Given the description of an element on the screen output the (x, y) to click on. 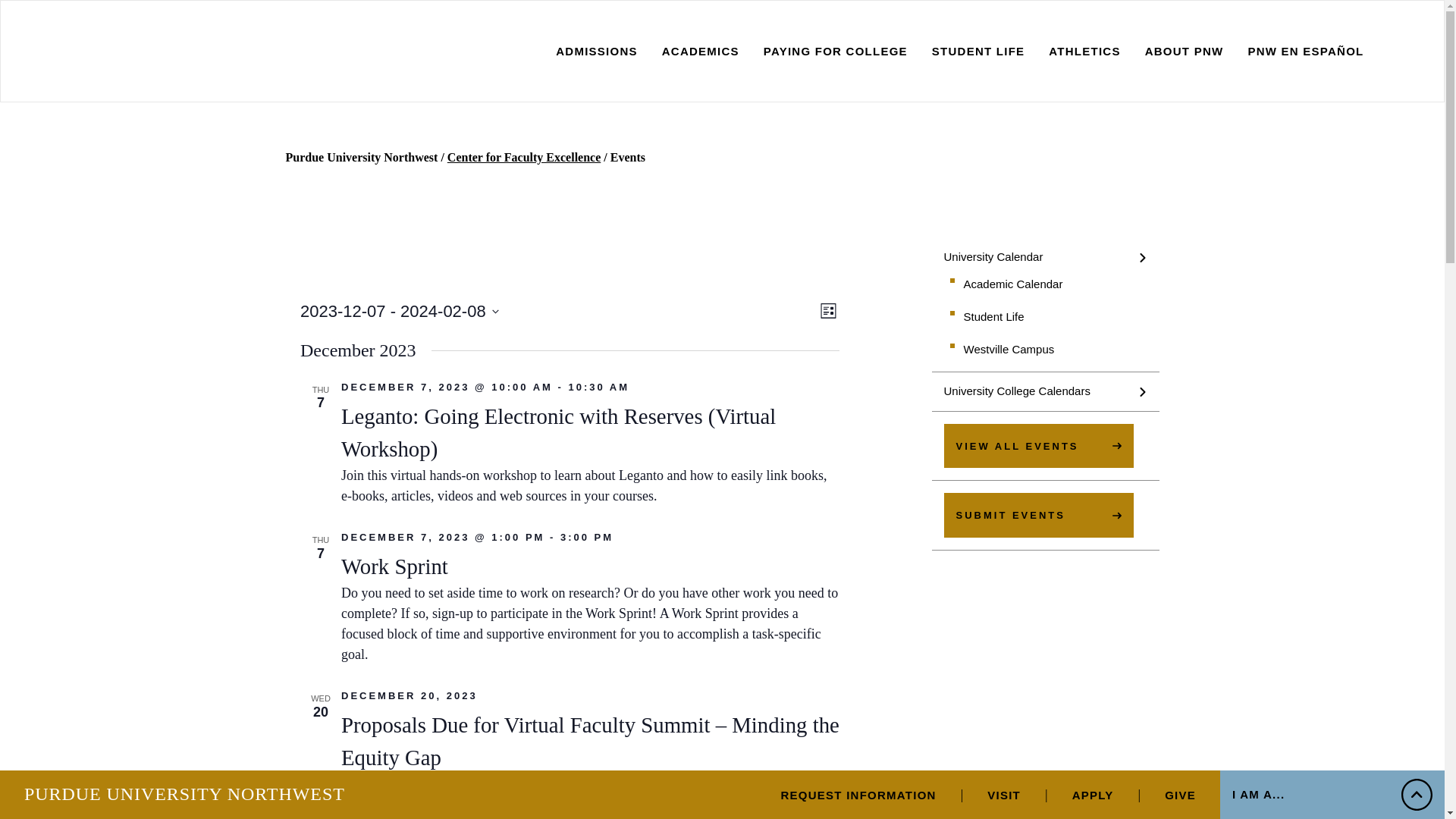
Work Sprint (394, 566)
Purdue University Northwest (361, 157)
ATHLETICS (1083, 51)
REQUEST INFORMATION (858, 795)
Go to Center for Faculty Excellence. (522, 157)
VISIT (1003, 795)
PURDUE UNIVERSITY NORTHWEST (184, 794)
ACADEMICS (700, 51)
ABOUT PNW (1184, 51)
APPLY (1092, 795)
